Given the description of an element on the screen output the (x, y) to click on. 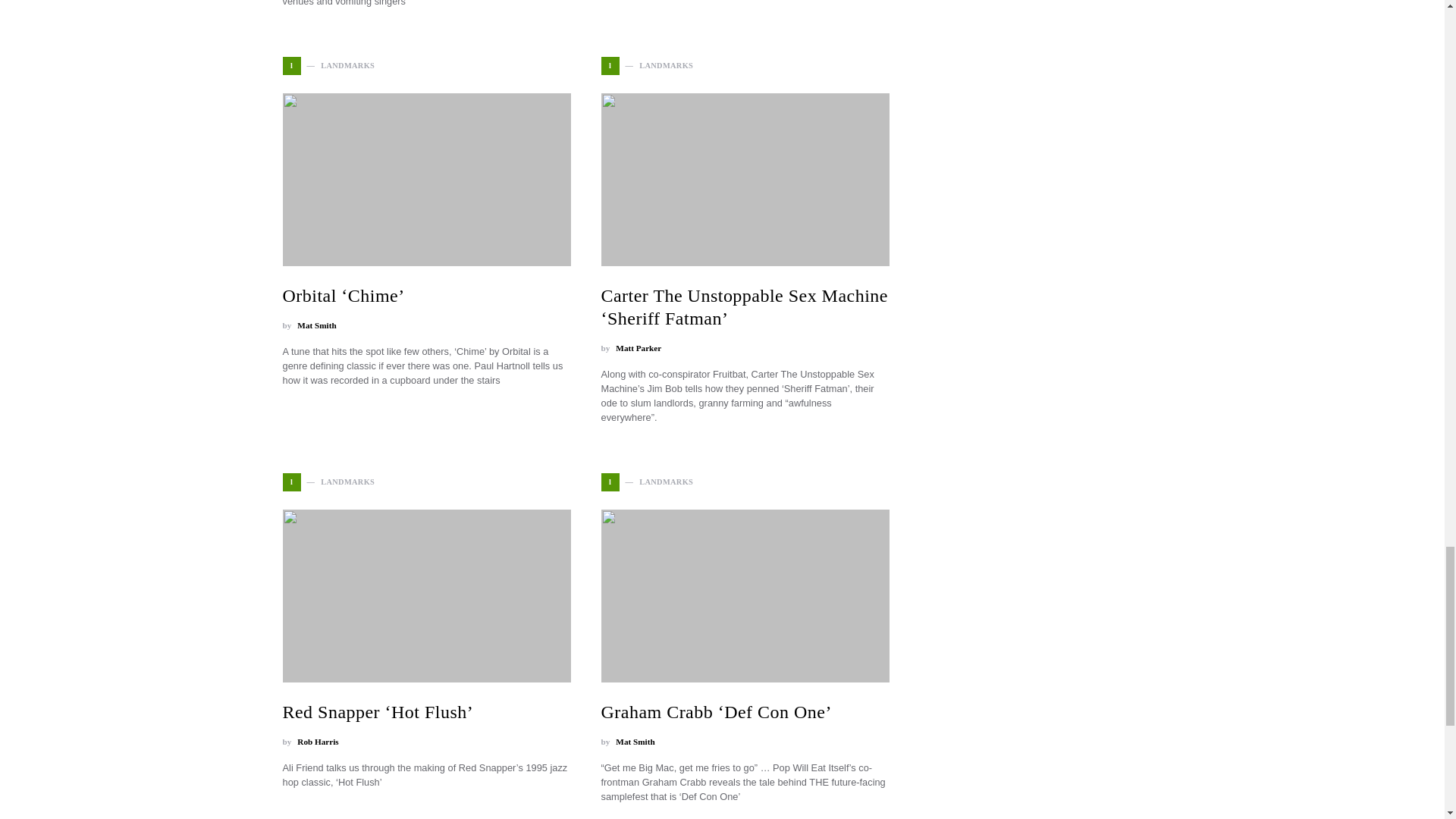
View all posts by Mat Smith (316, 325)
View all posts by Matt Parker (638, 348)
View all posts by Mat Smith (634, 741)
View all posts by Rob Harris (317, 741)
